Given the description of an element on the screen output the (x, y) to click on. 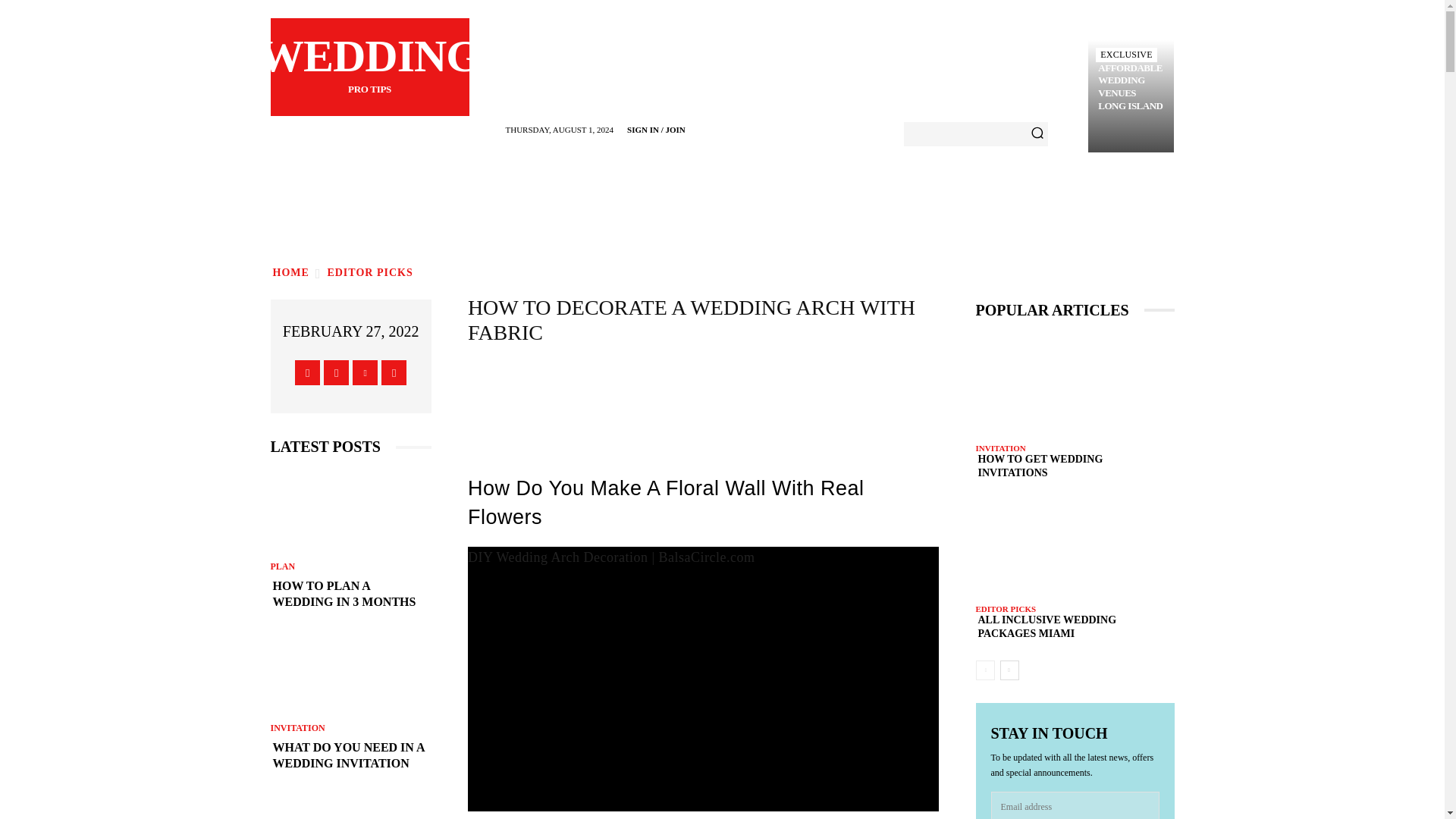
EXCLUSIVE (1126, 54)
EDITOR PICKS (369, 273)
Facebook (368, 66)
Affordable Wedding Venues Long Island (307, 371)
What Do You Need In A Wedding Invitation (1131, 87)
How Do You Become A Wedding Planner (349, 756)
How To Plan A Wedding In 3 Months (349, 806)
View all posts in Editor Picks (349, 594)
Twitter (369, 273)
HOME (364, 371)
How To Plan A Wedding In 3 Months (290, 273)
What Do You Need In A Wedding Invitation (349, 511)
Instagram (349, 673)
AFFORDABLE WEDDING VENUES LONG ISLAND (336, 371)
